Given the description of an element on the screen output the (x, y) to click on. 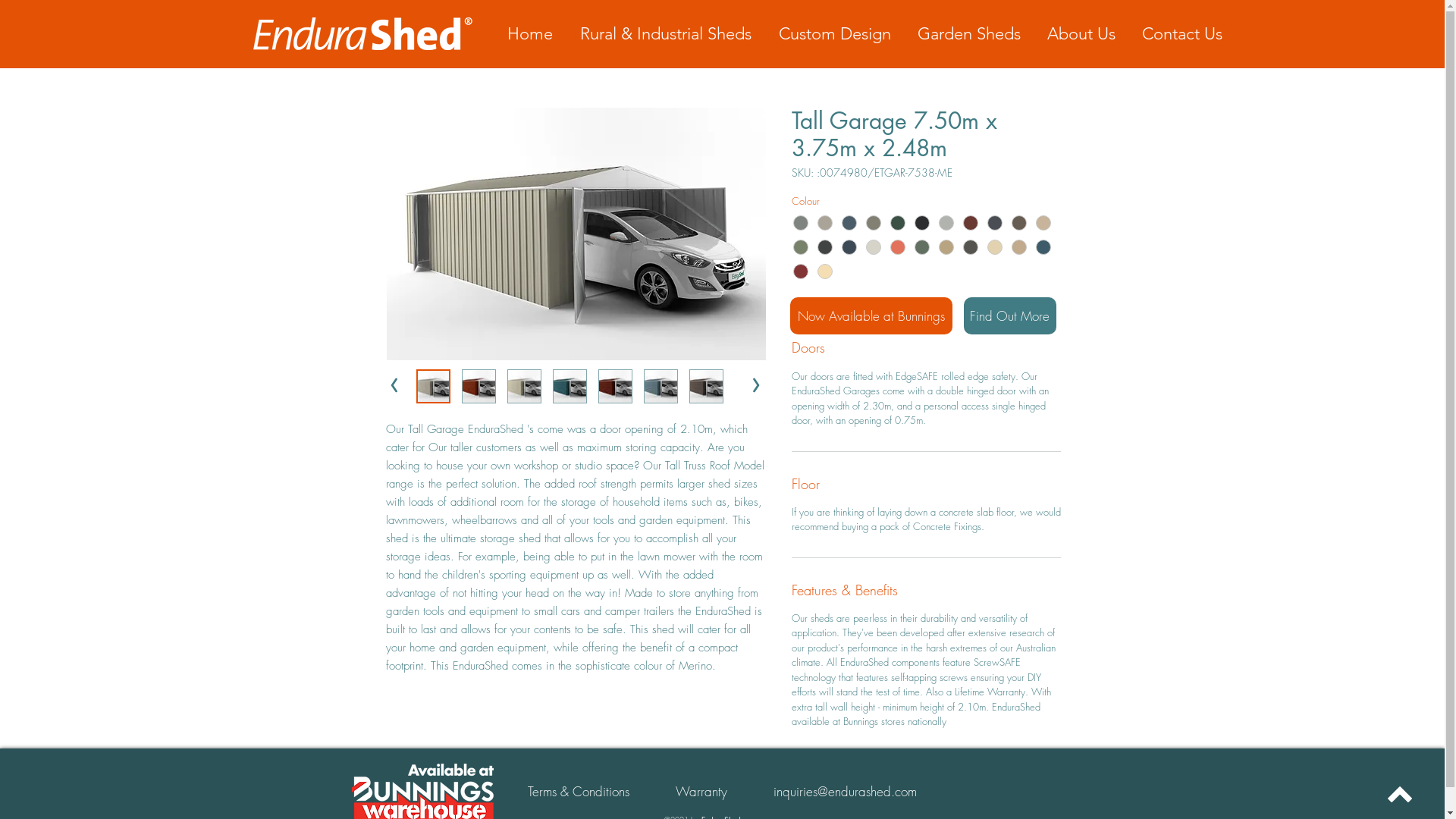
Now Available at Bunnings Element type: text (871, 315)
Warranty Element type: text (701, 791)
Terms & Conditions Element type: text (578, 791)
About Us Element type: text (1081, 33)
Custom Design Element type: text (833, 33)
Garden Sheds Element type: text (968, 33)
Rural & Industrial Sheds Element type: text (664, 33)
Contact Us Element type: text (1181, 33)
Home Element type: text (529, 33)
Find Out More Element type: text (1009, 315)
inquiries@endurashed.com Element type: text (845, 791)
